Given the description of an element on the screen output the (x, y) to click on. 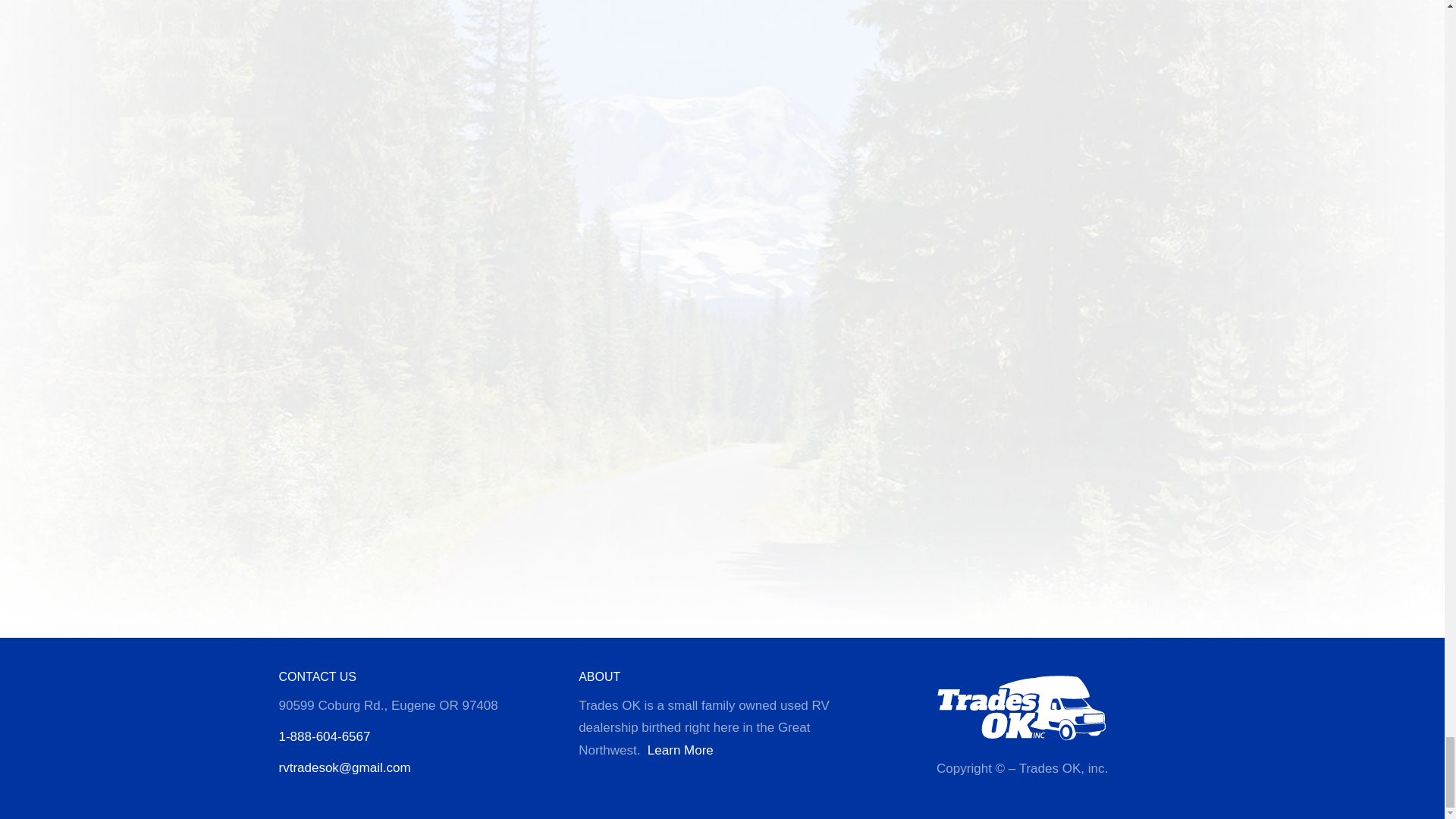
1-888-604-6567 (325, 736)
Learn More (680, 749)
